Given the description of an element on the screen output the (x, y) to click on. 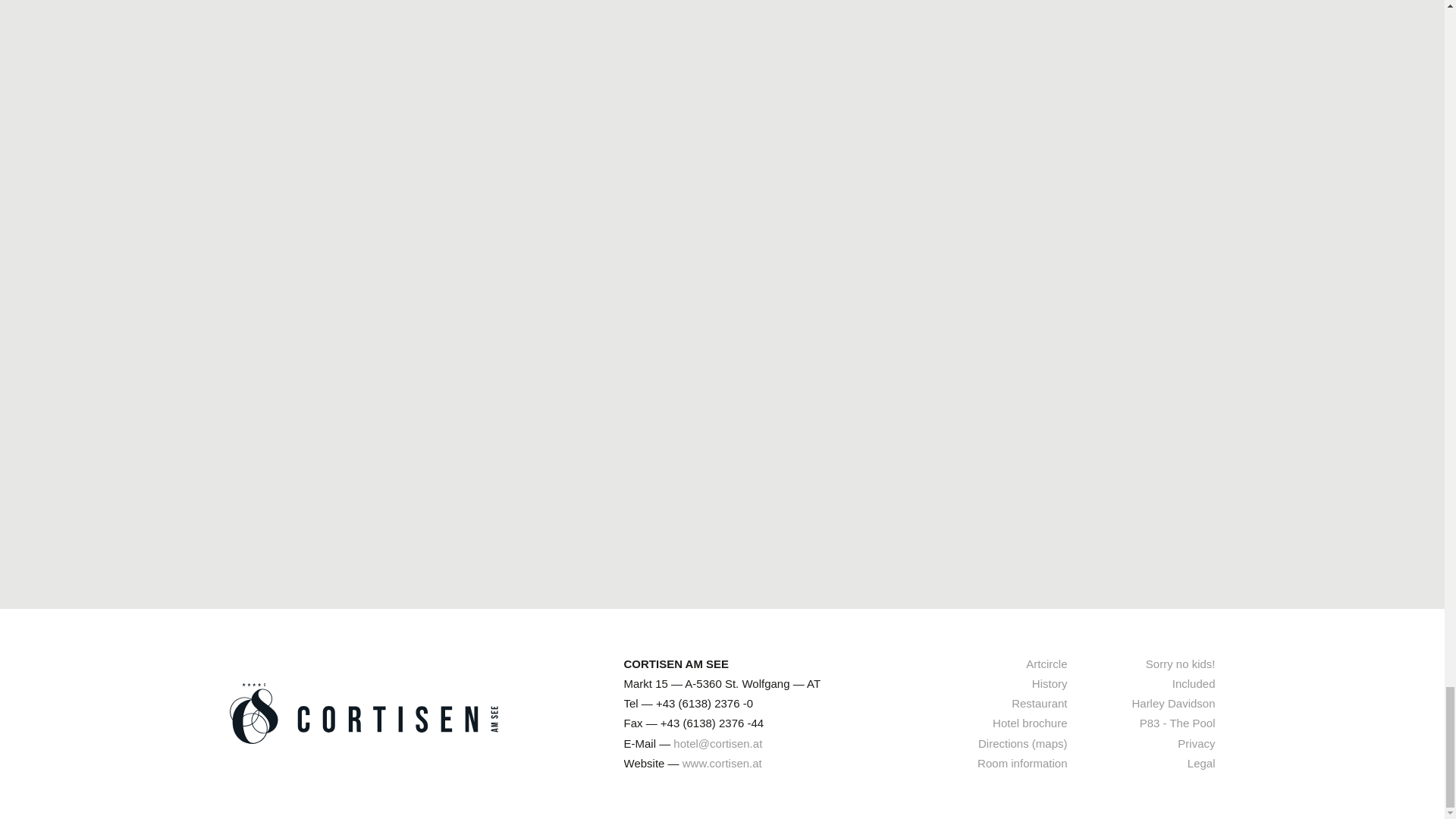
Privacy (1195, 743)
Legal (1201, 763)
Room information (1021, 763)
Restaurant (1039, 703)
Included (1193, 683)
Sorry no kids! (1180, 663)
History (1049, 683)
P83 - The Pool (1177, 723)
Hotel brochure (1029, 723)
Harley Davidson (1172, 703)
